Given the description of an element on the screen output the (x, y) to click on. 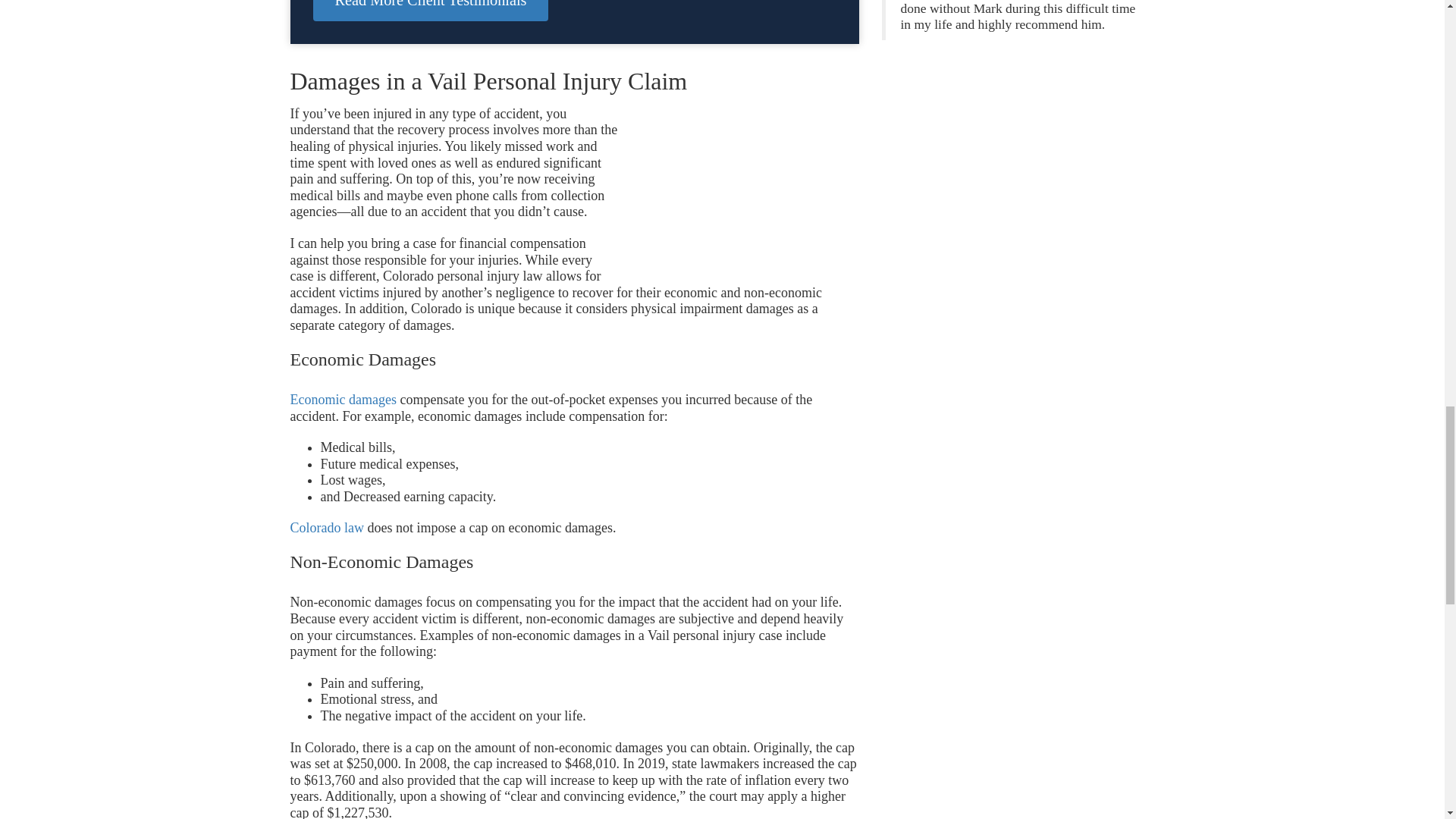
Colorado law (325, 527)
Read More Client Testimonials (430, 10)
Economic damages (342, 399)
